Given the description of an element on the screen output the (x, y) to click on. 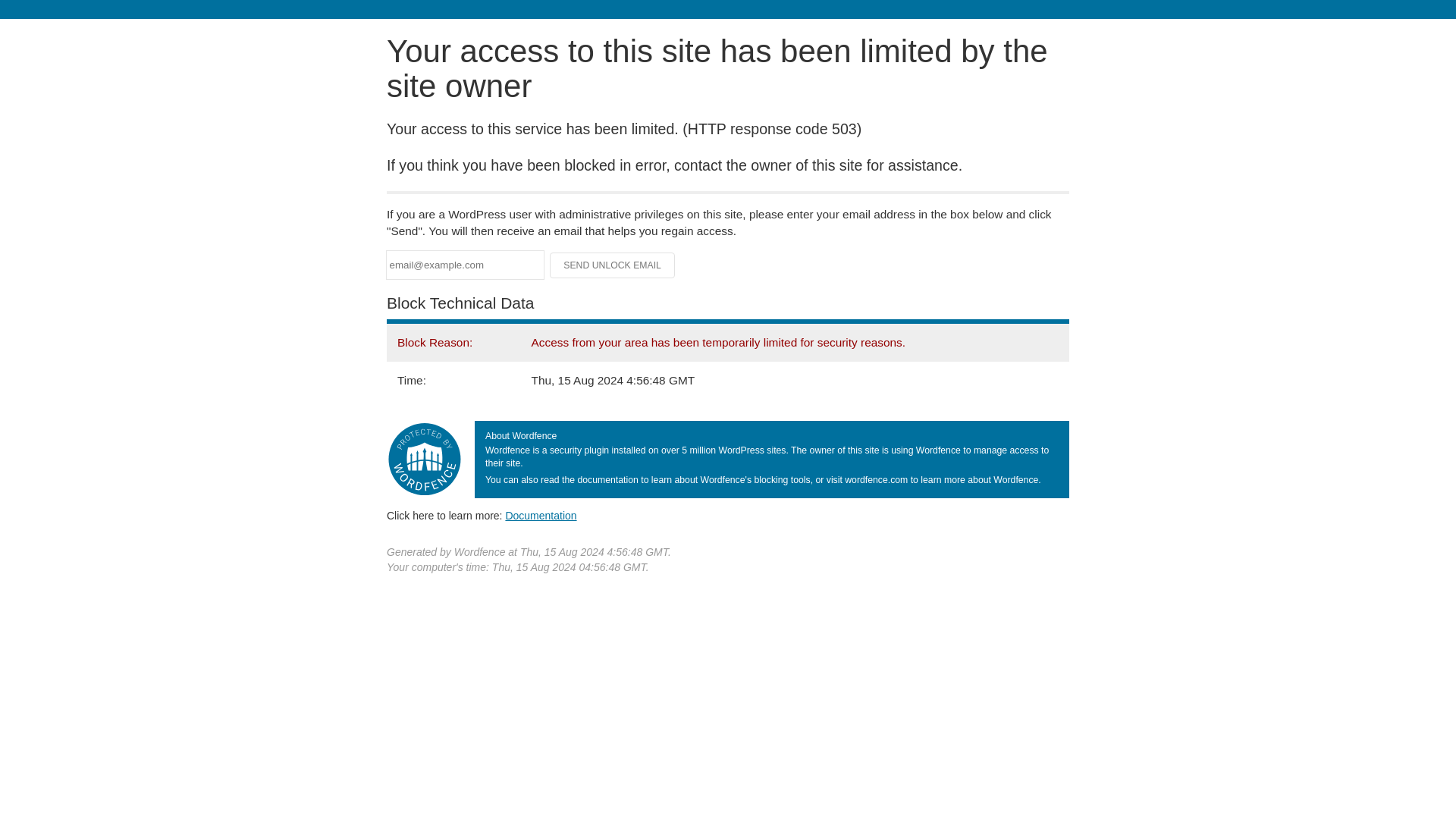
Documentation (540, 515)
Send Unlock Email (612, 265)
Send Unlock Email (612, 265)
